Given the description of an element on the screen output the (x, y) to click on. 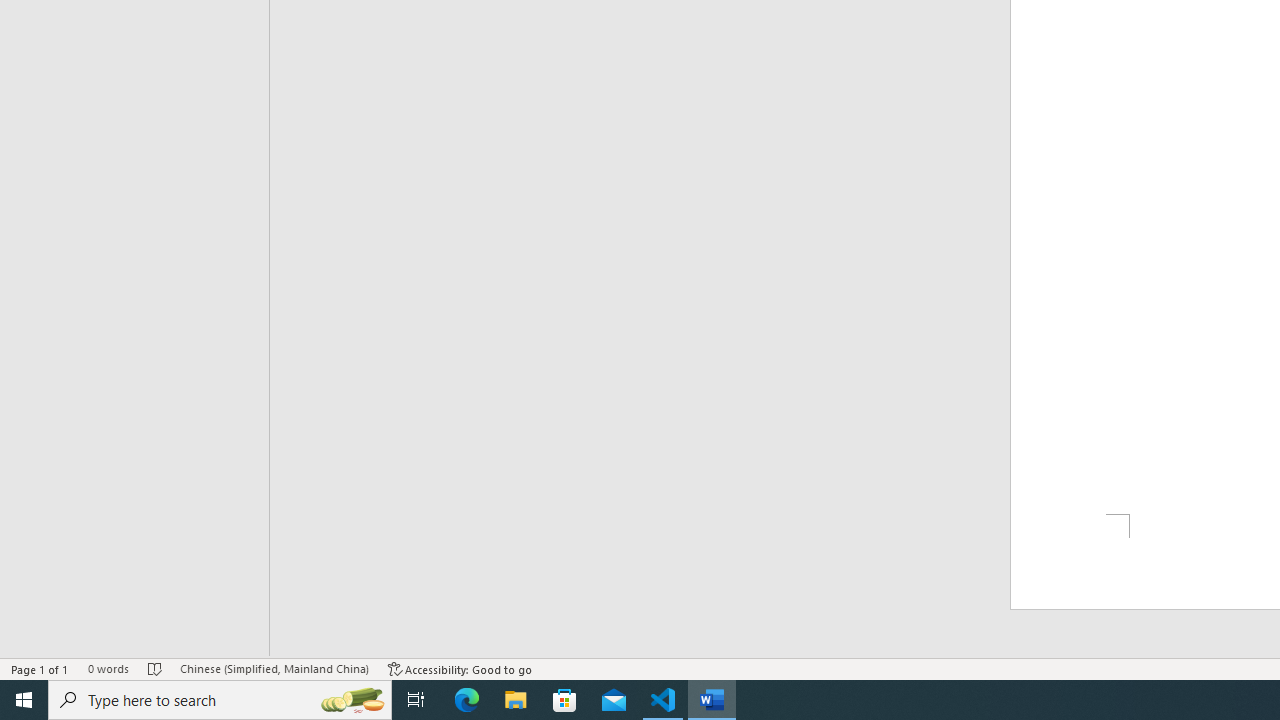
Spelling and Grammar Check No Errors (155, 668)
Page Number Page 1 of 1 (39, 668)
